Given the description of an element on the screen output the (x, y) to click on. 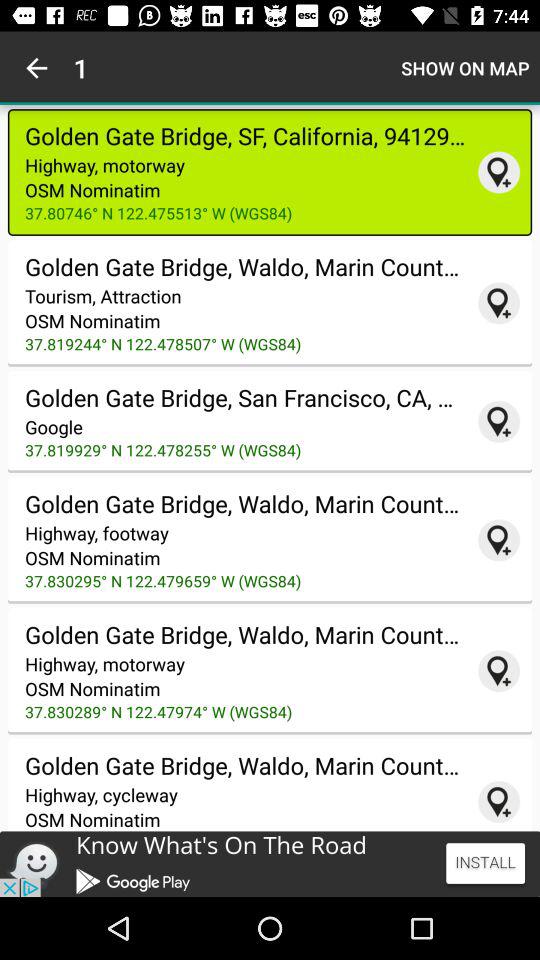
show it on map (499, 421)
